Given the description of an element on the screen output the (x, y) to click on. 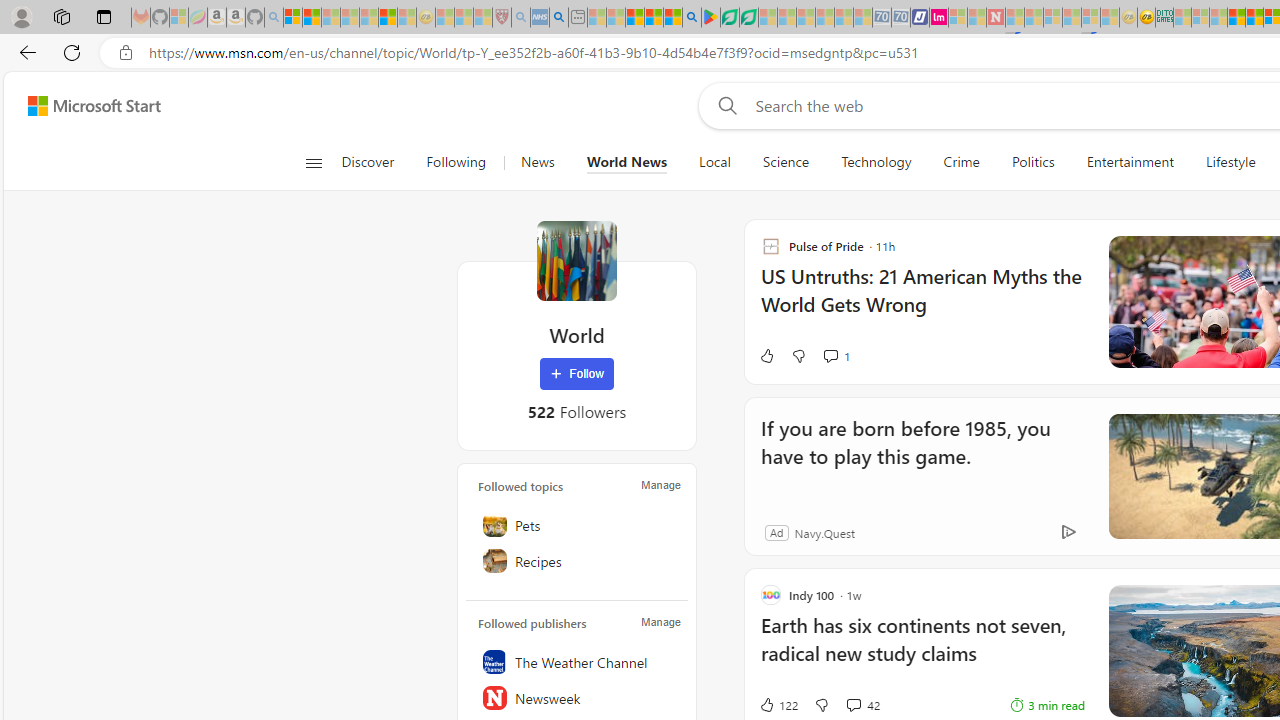
World News (627, 162)
Recipes (577, 561)
Local - MSN - Sleeping (482, 17)
Politics (1032, 162)
google - Search (692, 17)
Skip to content (86, 105)
